Given the description of an element on the screen output the (x, y) to click on. 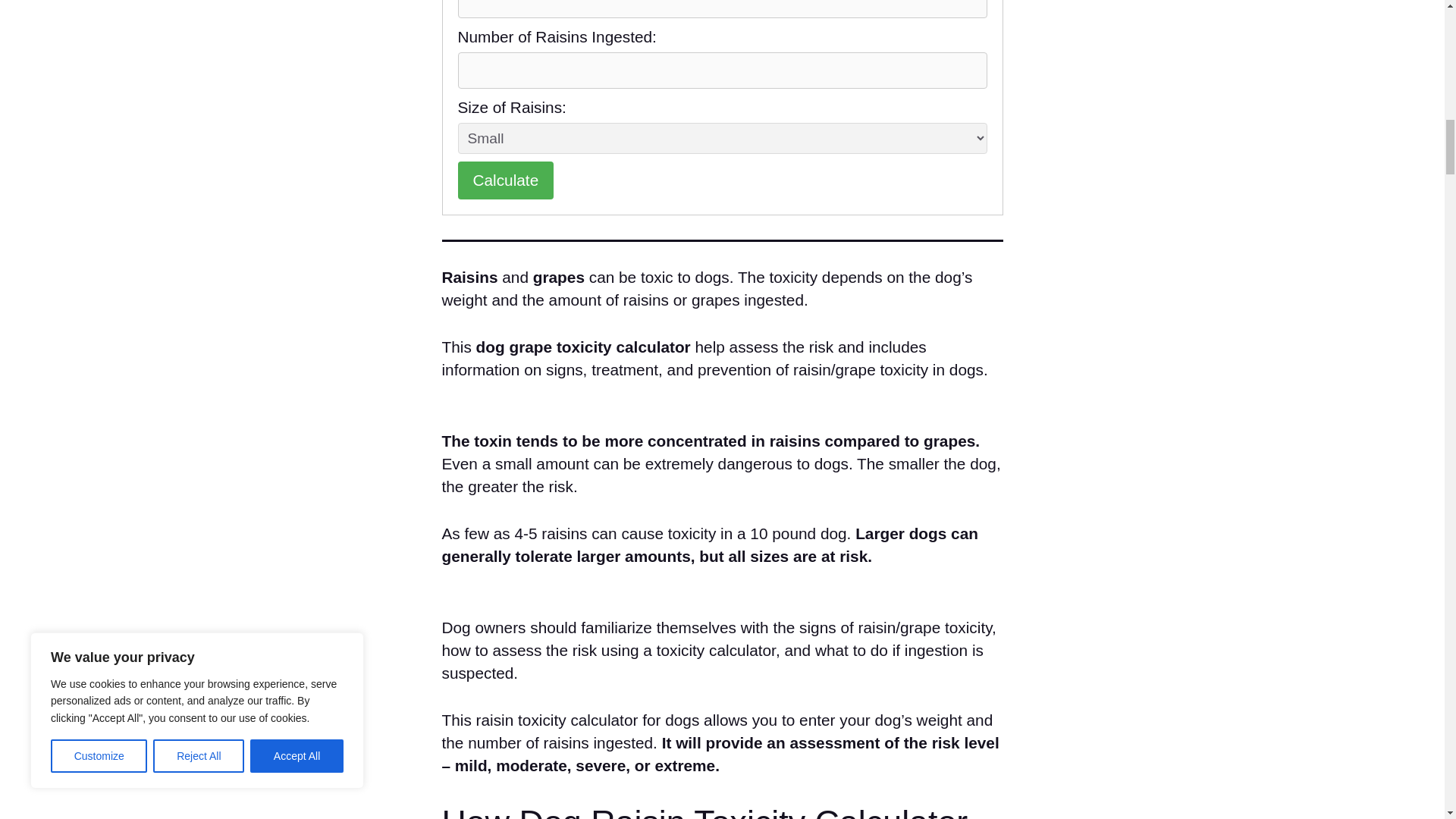
Calculate (506, 180)
Calculate (506, 180)
